Given the description of an element on the screen output the (x, y) to click on. 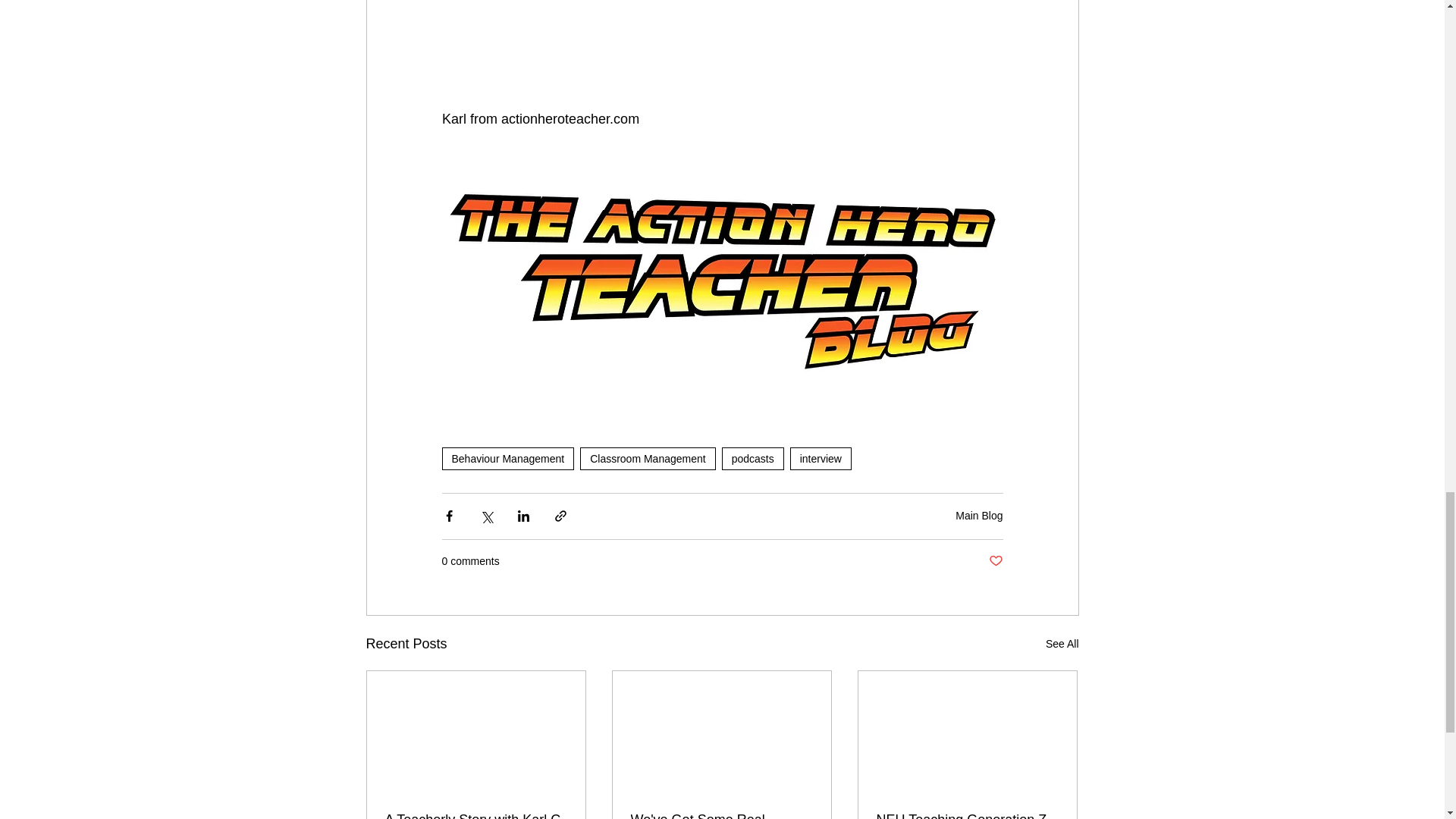
remote content (722, 43)
podcasts (753, 458)
NEU Teaching Generation Z Twitter Feedback - It's GREAT! (967, 815)
interview (820, 458)
See All (1061, 644)
Main Blog (979, 515)
Classroom Management (647, 458)
Post not marked as liked (995, 561)
Behaviour Management (507, 458)
